Given the description of an element on the screen output the (x, y) to click on. 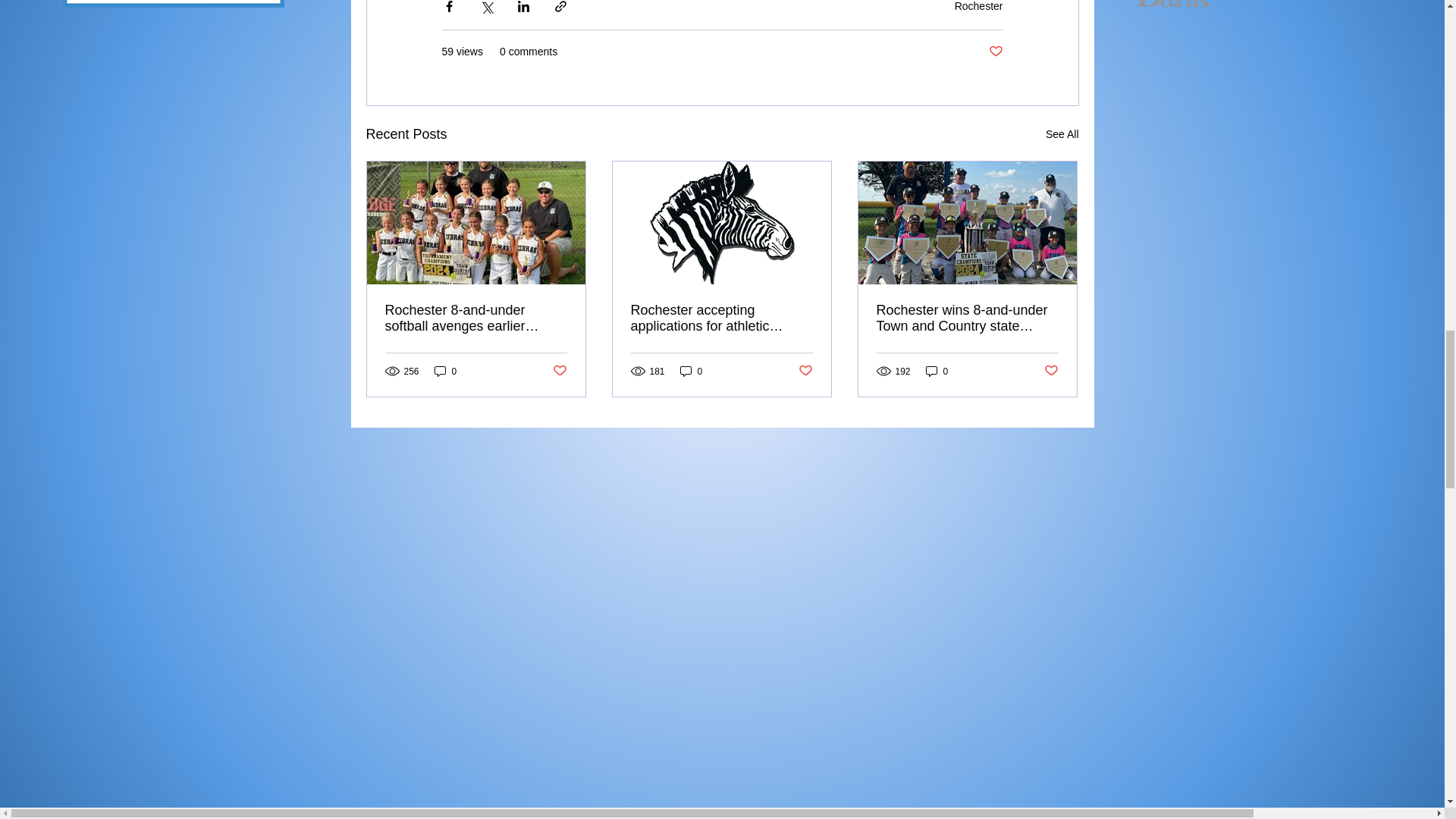
0 (691, 370)
Post not marked as liked (558, 371)
See All (1061, 134)
Rochester (979, 6)
0 (445, 370)
0 (937, 370)
Post not marked as liked (804, 371)
Post not marked as liked (995, 51)
Post not marked as liked (1050, 371)
Rochester accepting applications for athletic director (721, 318)
